Given the description of an element on the screen output the (x, y) to click on. 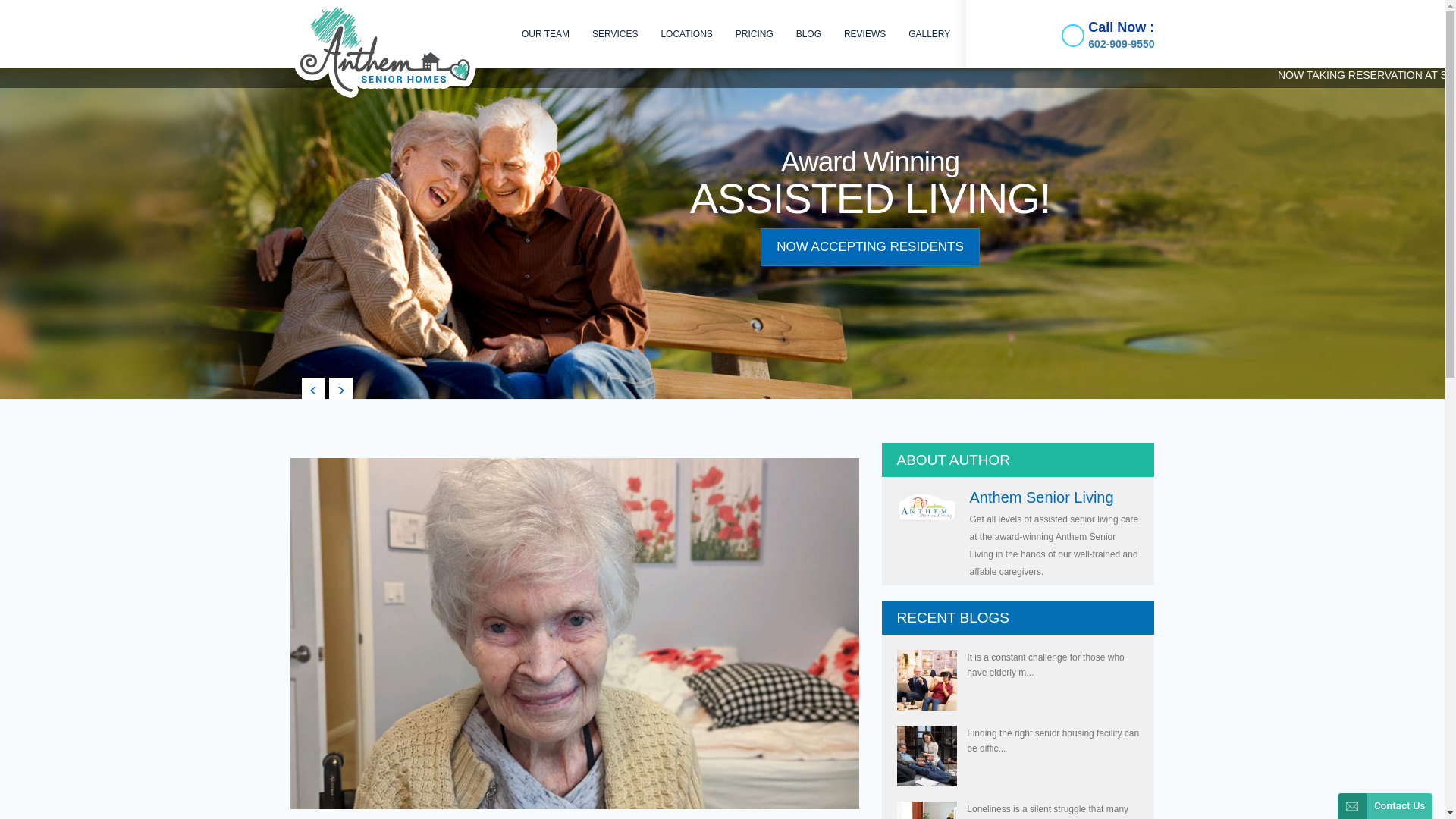
GALLERY (928, 33)
602-909-9550 (1120, 43)
REVIEWS (864, 33)
Anthem Senior Living (1041, 497)
LOCATIONS (686, 33)
SERVICES (614, 33)
OUR TEAM (545, 33)
NOW ACCEPTING RESIDENTS (869, 247)
